Given the description of an element on the screen output the (x, y) to click on. 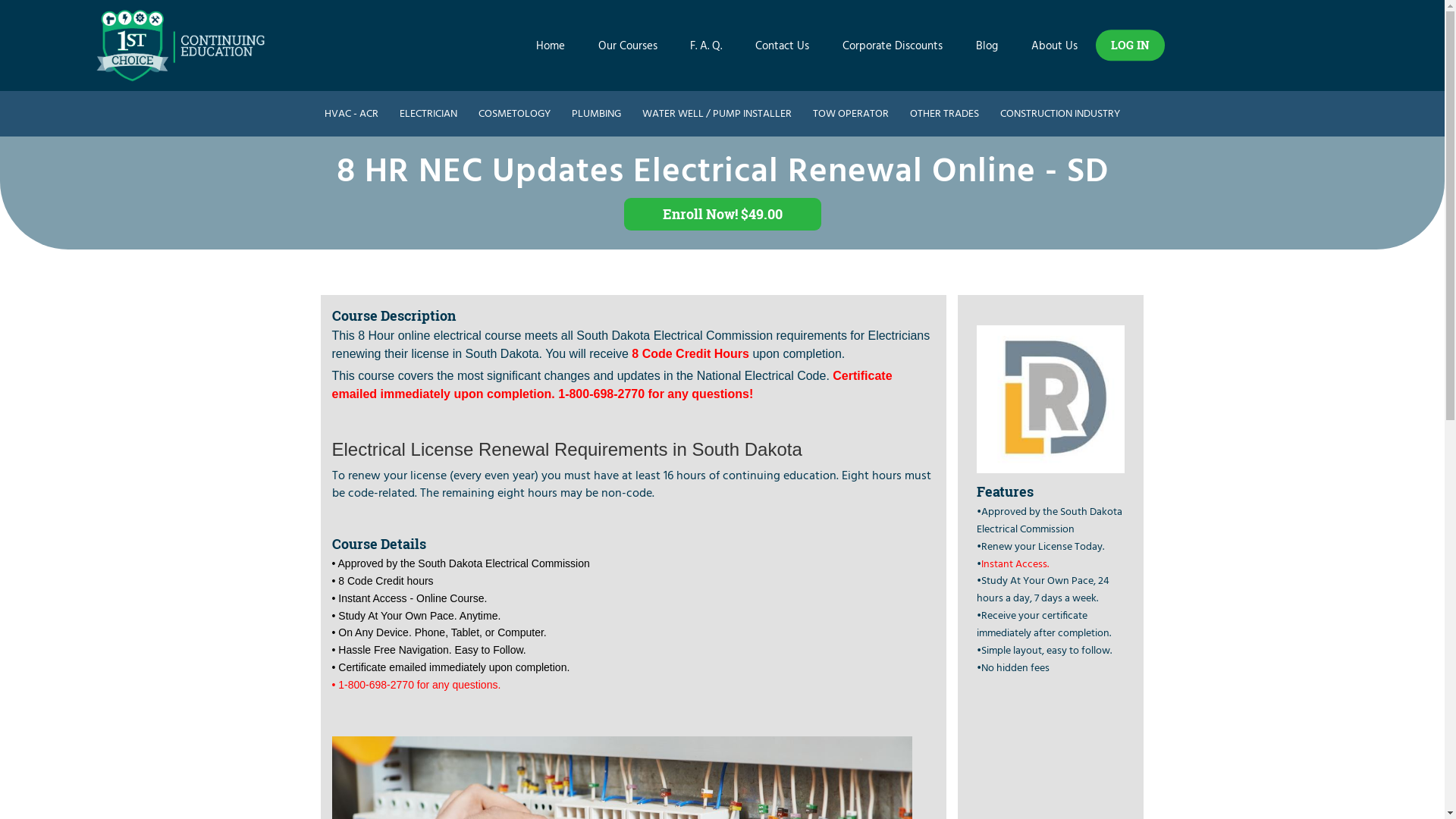
Home Element type: text (550, 45)
About Us Element type: text (1054, 45)
Contact Us Element type: text (782, 45)
CONSTRUCTION INDUSTRY Element type: text (1060, 114)
Enroll Now! $49.00 Element type: text (721, 210)
WATER WELL / PUMP INSTALLER Element type: text (716, 114)
Corporate Discounts Element type: text (892, 45)
OTHER TRADES Element type: text (944, 114)
HVAC - ACR Element type: text (351, 114)
LOG IN Element type: text (1129, 44)
Blog Element type: text (986, 45)
ELECTRICIAN Element type: text (428, 114)
Enroll Now! $49.00 Element type: text (721, 213)
COSMETOLOGY Element type: text (514, 114)
F. A. Q. Element type: text (705, 45)
PLUMBING Element type: text (596, 114)
Our Courses Element type: text (627, 45)
TOW OPERATOR Element type: text (850, 114)
